Given the description of an element on the screen output the (x, y) to click on. 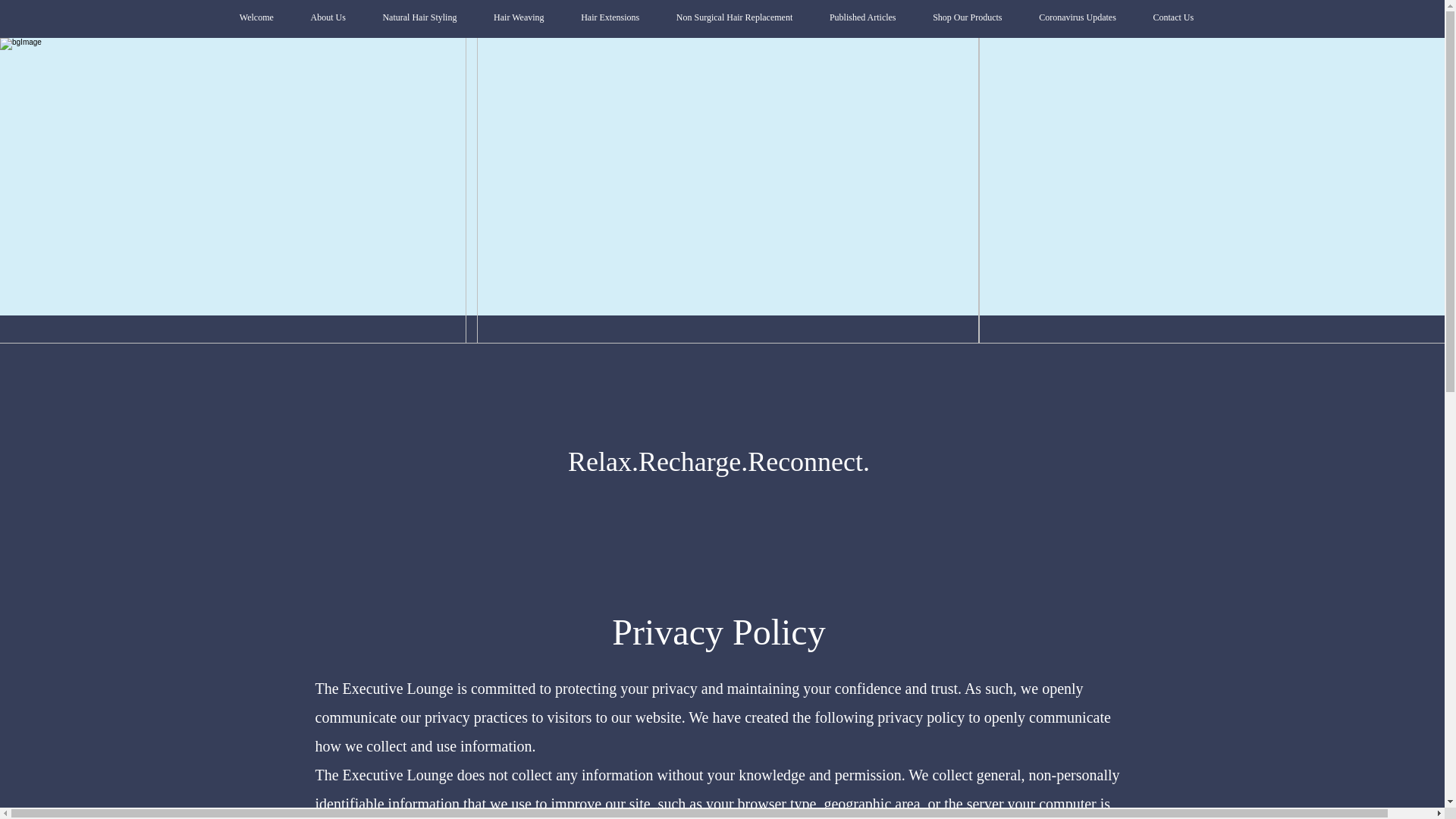
Coronavirus Updates (1077, 17)
Hair Weaving (519, 17)
Non Surgical Hair Replacement (734, 17)
About Us (328, 17)
Contact Us (1172, 17)
Published Articles (862, 17)
Shop Our Products (967, 17)
Natural Hair Styling (420, 17)
Welcome (256, 17)
Hair Extensions (610, 17)
